Given the description of an element on the screen output the (x, y) to click on. 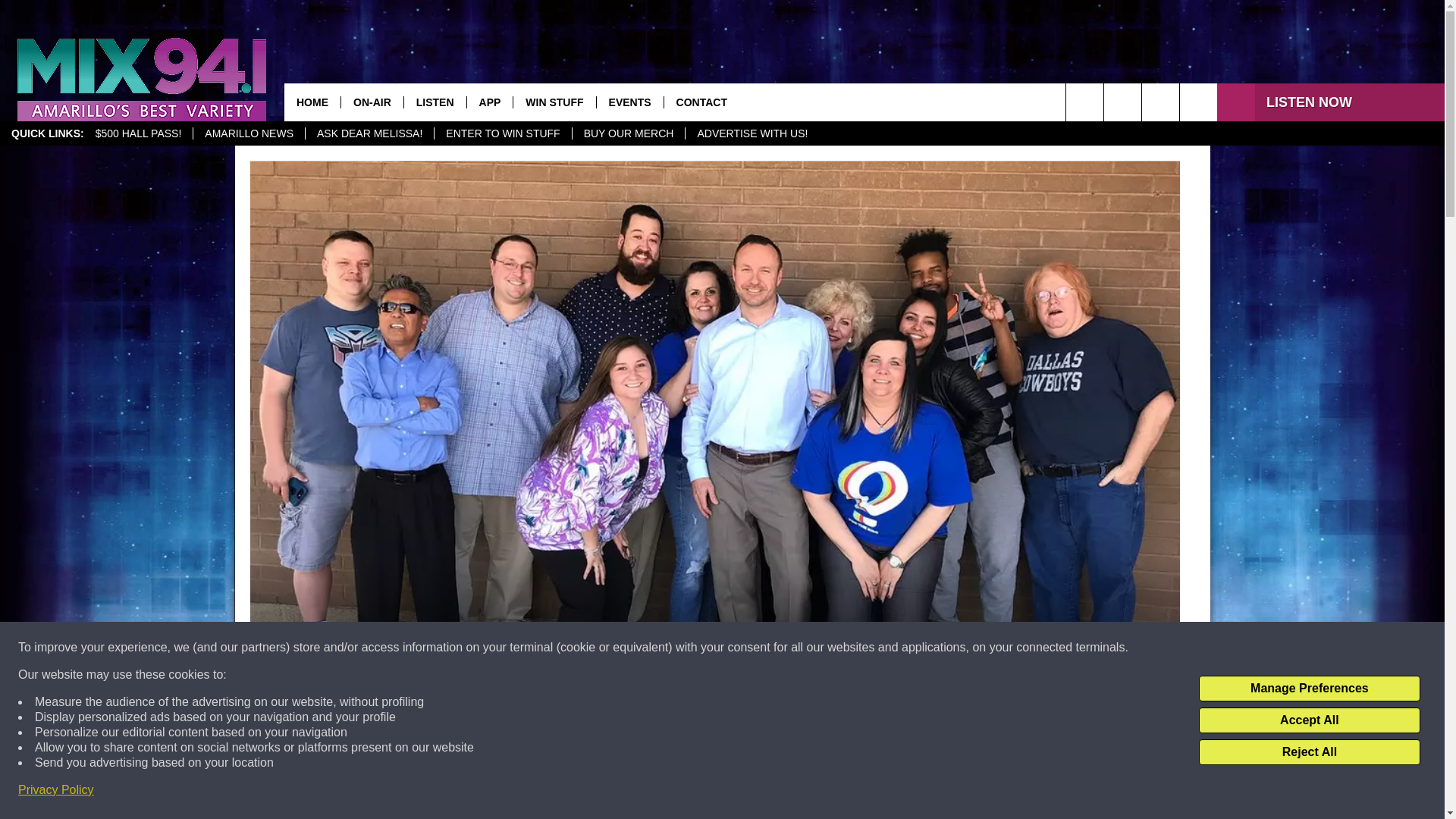
LISTEN (434, 102)
Manage Preferences (1309, 688)
APP (489, 102)
Accept All (1309, 720)
Share on Twitter (912, 791)
WIN STUFF (553, 102)
Privacy Policy (55, 789)
BUY OUR MERCH (628, 133)
ENTER TO WIN STUFF (501, 133)
Reject All (1309, 751)
HOME (311, 102)
ADVERTISE WITH US! (751, 133)
ASK DEAR MELISSA! (368, 133)
ON-AIR (371, 102)
AMARILLO NEWS (248, 133)
